Given the description of an element on the screen output the (x, y) to click on. 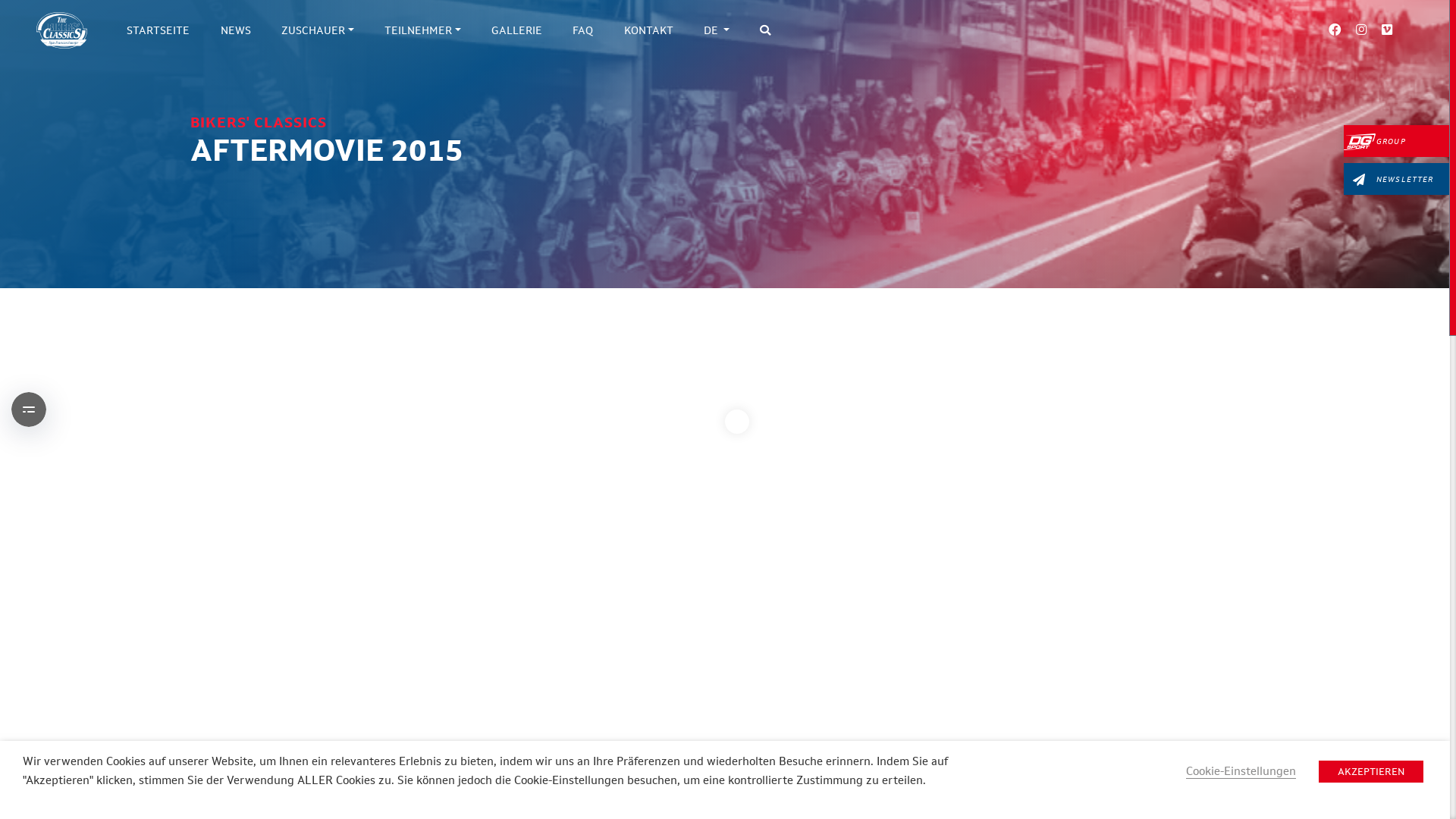
NEWS Element type: text (234, 30)
AKZEPTIEREN Element type: text (1370, 771)
KONTAKT Element type: text (648, 30)
FAQ Element type: text (582, 30)
Cookie-Einstellungen Element type: text (1240, 770)
STARTSEITE Element type: text (157, 30)
DE Element type: text (716, 30)
TEILNEHMER Element type: text (422, 30)
NEWSLETTER Element type: text (1396, 178)
GALLERIE Element type: text (516, 30)
ZUSCHAUER Element type: text (317, 30)
